Given the description of an element on the screen output the (x, y) to click on. 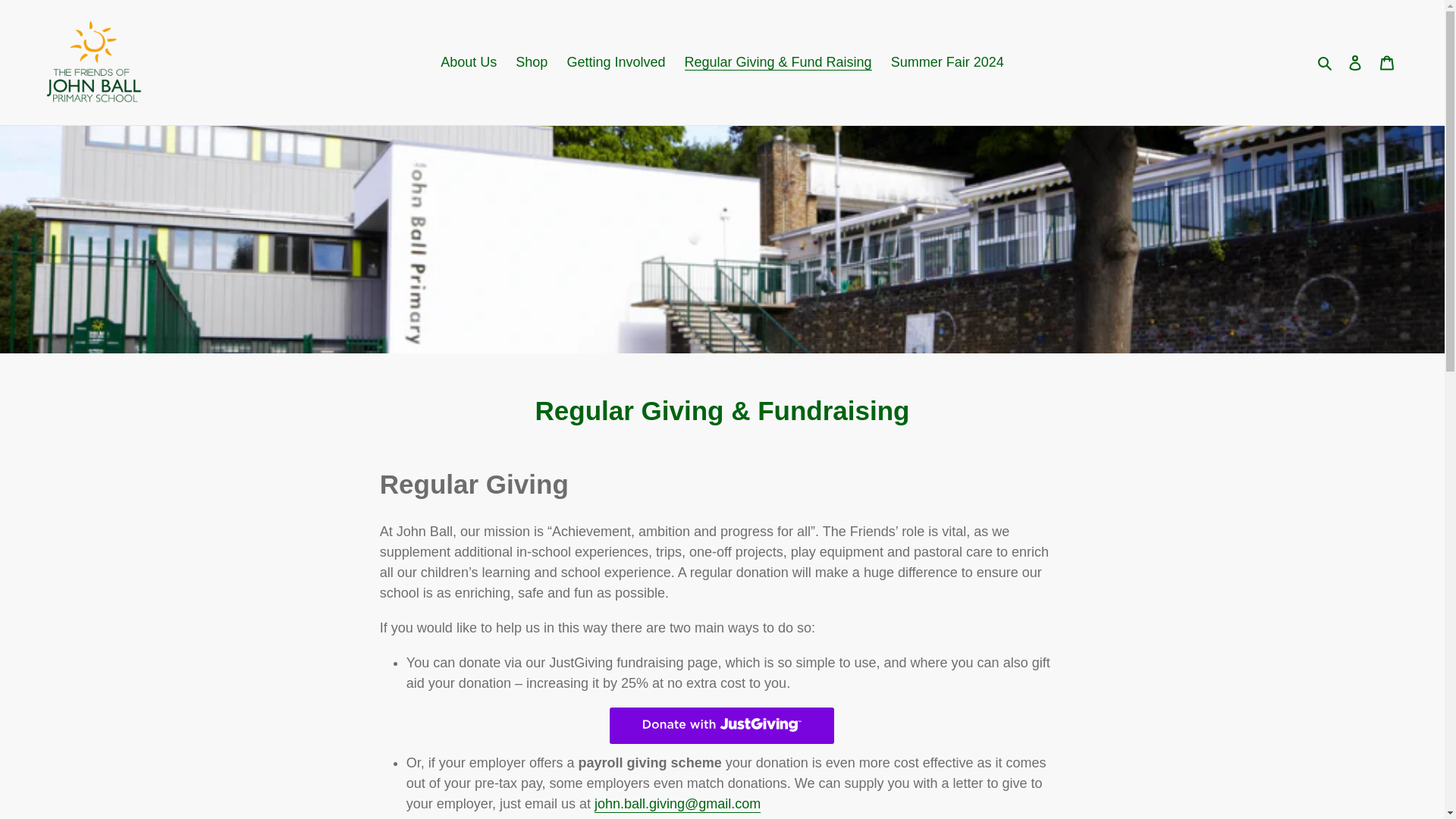
Shop (531, 62)
About Us (467, 62)
Cart (1387, 62)
Summer Fair 2024 (947, 62)
Log in (1355, 62)
Search (1326, 62)
Getting Involved (615, 62)
